Given the description of an element on the screen output the (x, y) to click on. 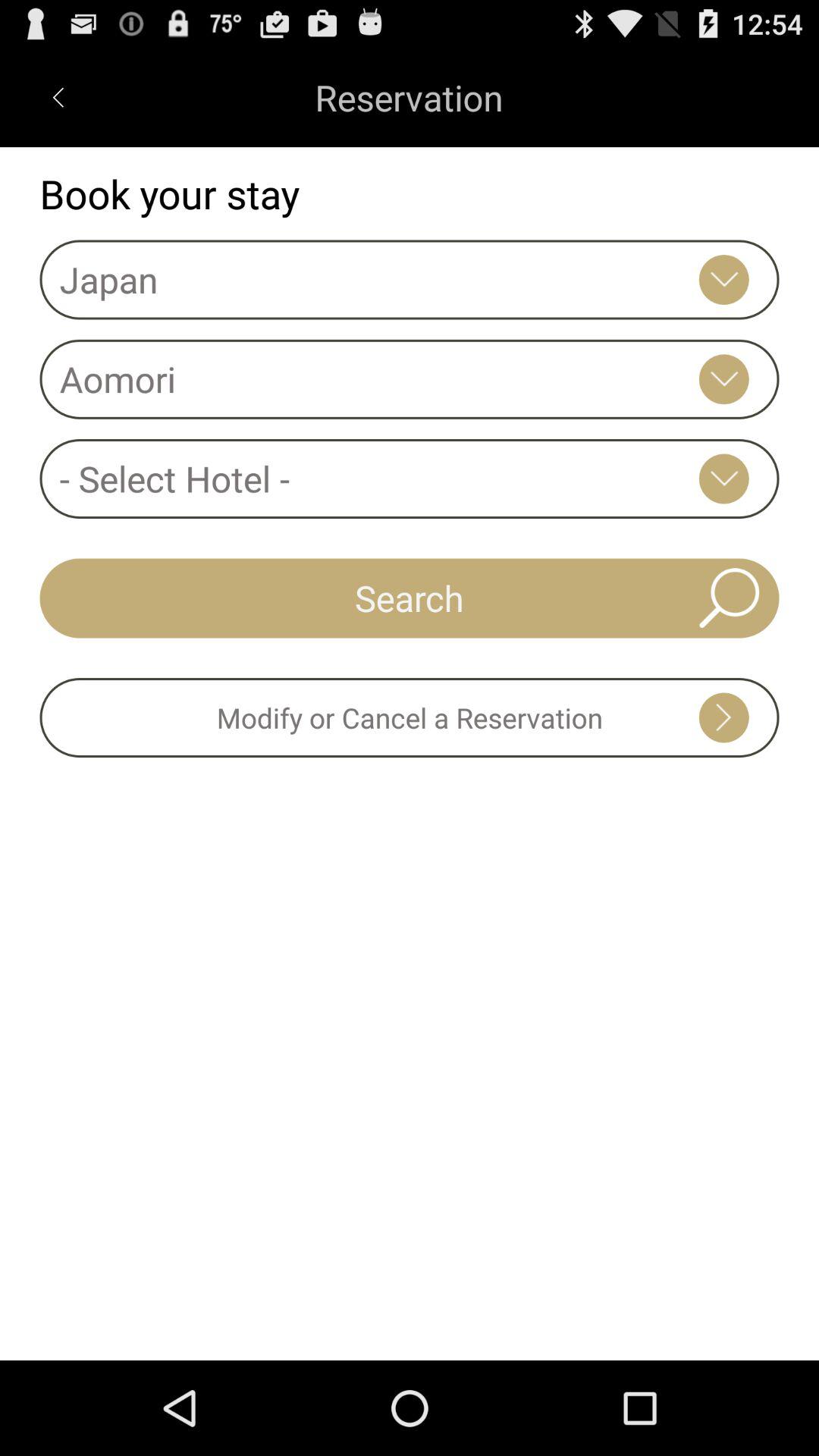
open the app below - select hotel - (409, 598)
